Given the description of an element on the screen output the (x, y) to click on. 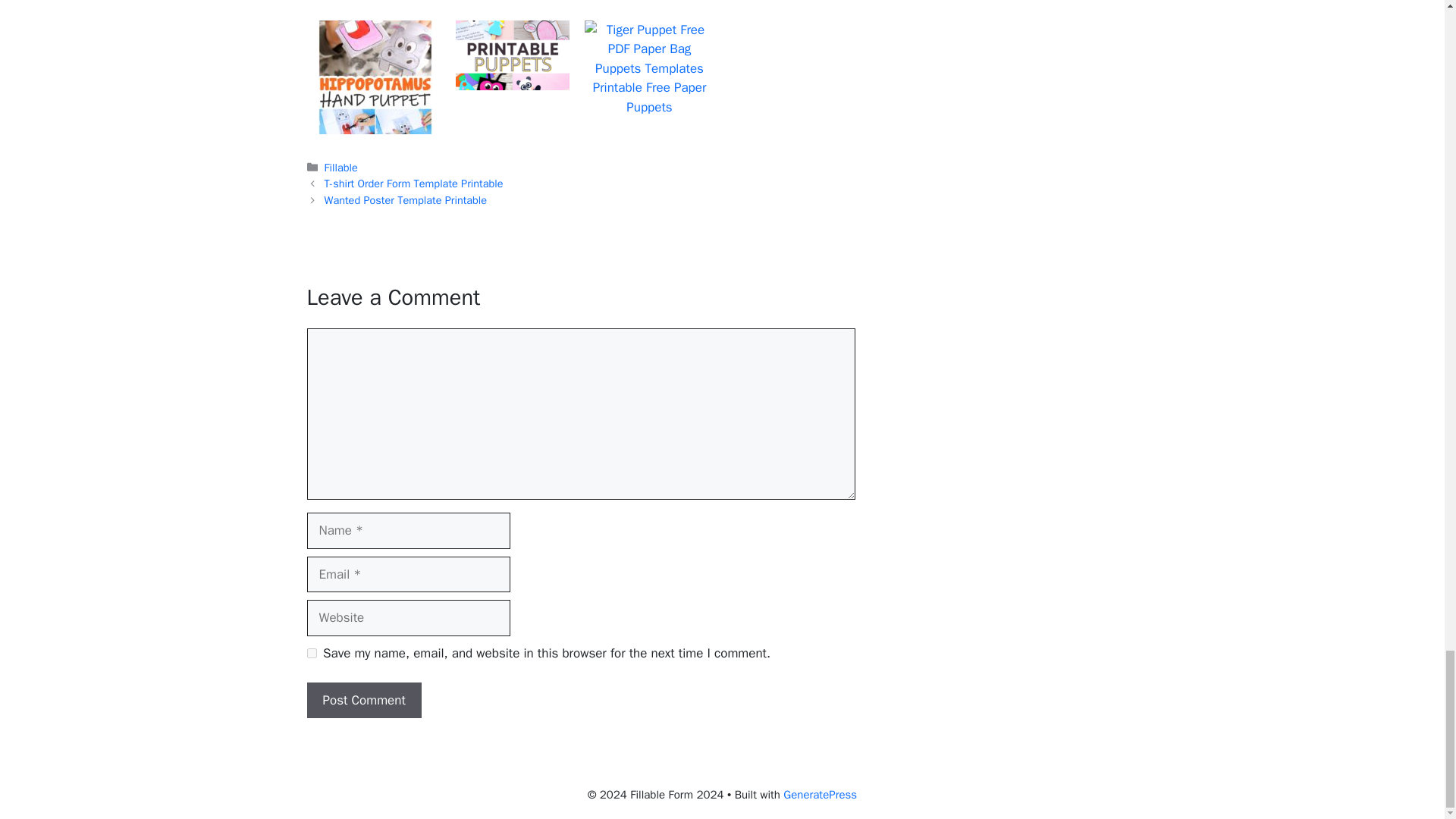
yes (310, 653)
GeneratePress (820, 794)
Post Comment (362, 700)
Post Comment (362, 700)
Wanted Poster Template Printable (405, 200)
T-shirt Order Form Template Printable (413, 183)
Fillable (341, 167)
